Given the description of an element on the screen output the (x, y) to click on. 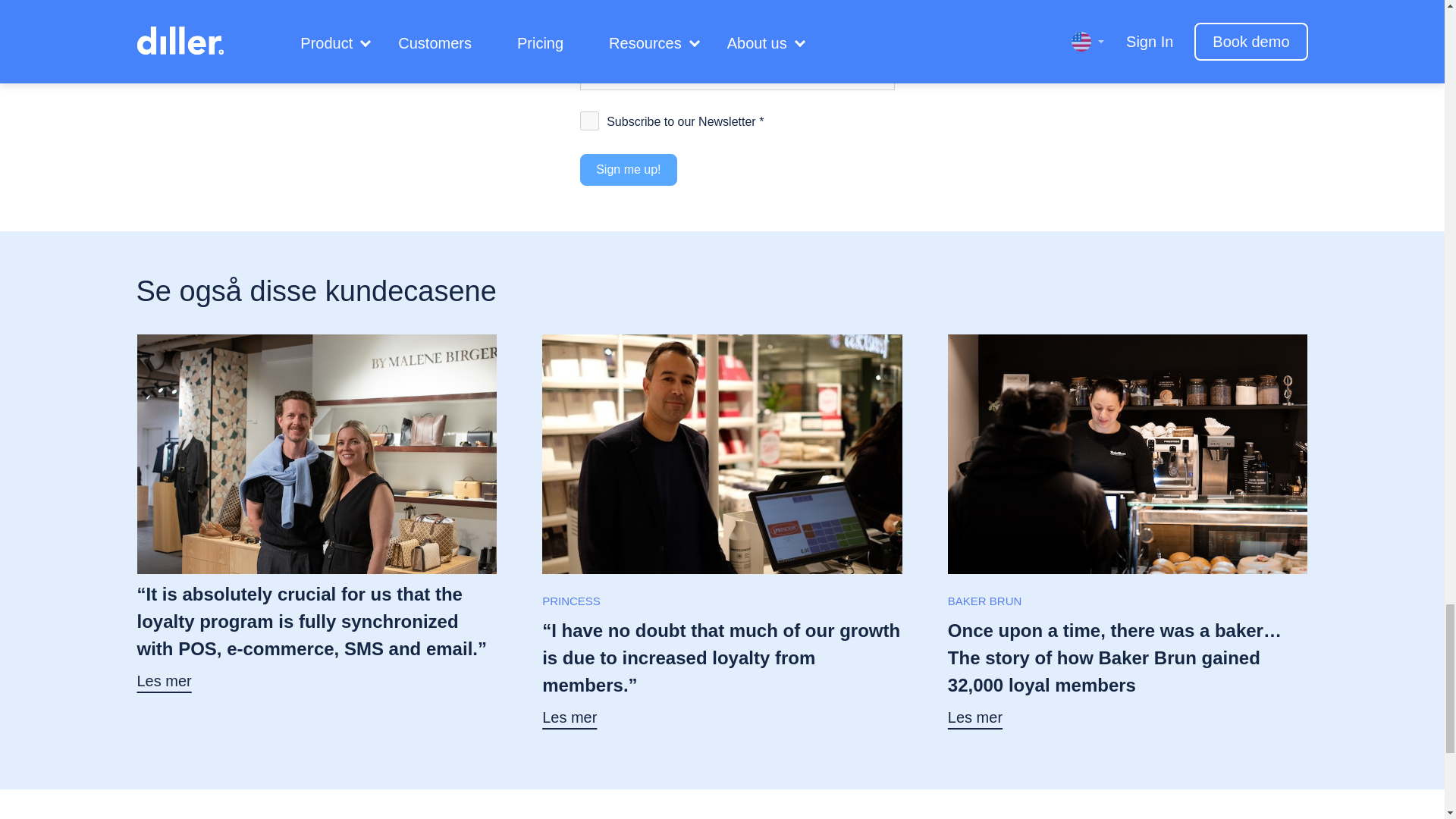
Twitter (625, 5)
Facebook (594, 5)
Email (655, 5)
Sign me up! (628, 169)
